Given the description of an element on the screen output the (x, y) to click on. 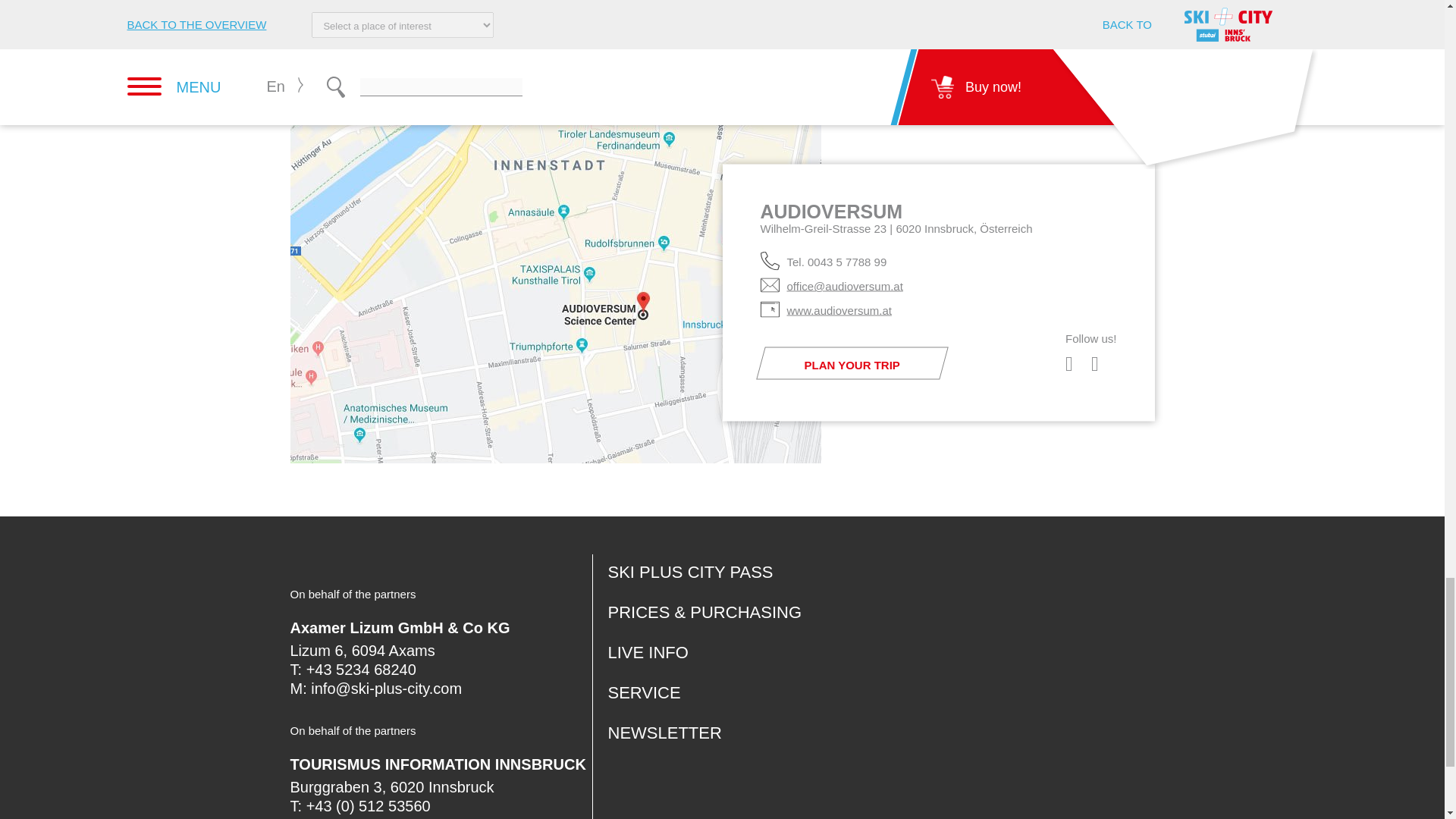
Tel. 0043 5 7788 99 (832, 260)
SKI plus CITY Pass (690, 571)
www.audioversum.at (834, 309)
Tel. 0043 5 7788 99 (832, 260)
PLAN YOUR TRIP (848, 362)
LIVE INFO (648, 651)
www.audioversum.at (834, 309)
NEWSLETTER (665, 732)
SKI PLUS CITY PASS (690, 571)
SERVICE (644, 691)
